Given the description of an element on the screen output the (x, y) to click on. 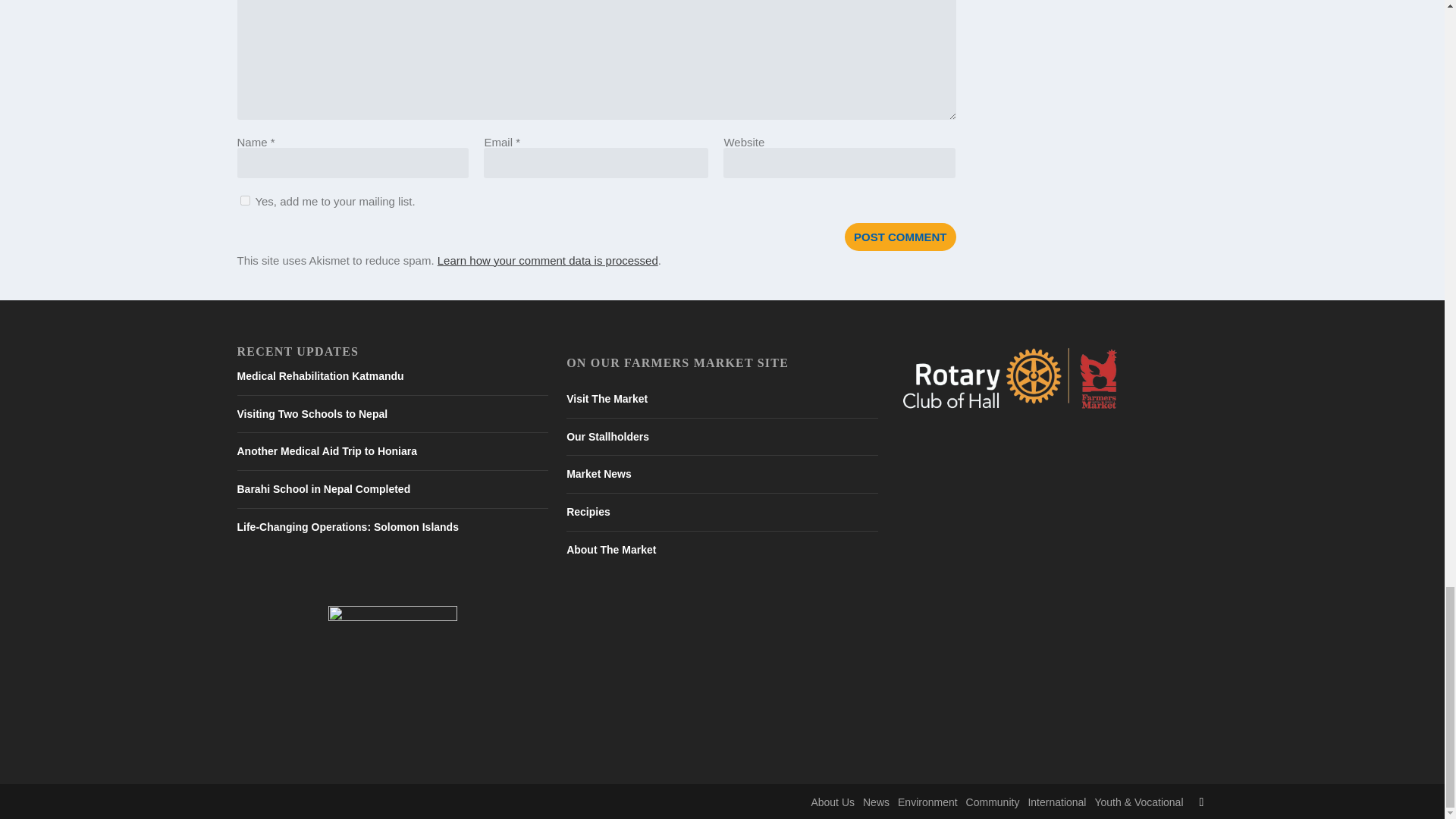
Post Comment (900, 236)
1 (244, 200)
